Given the description of an element on the screen output the (x, y) to click on. 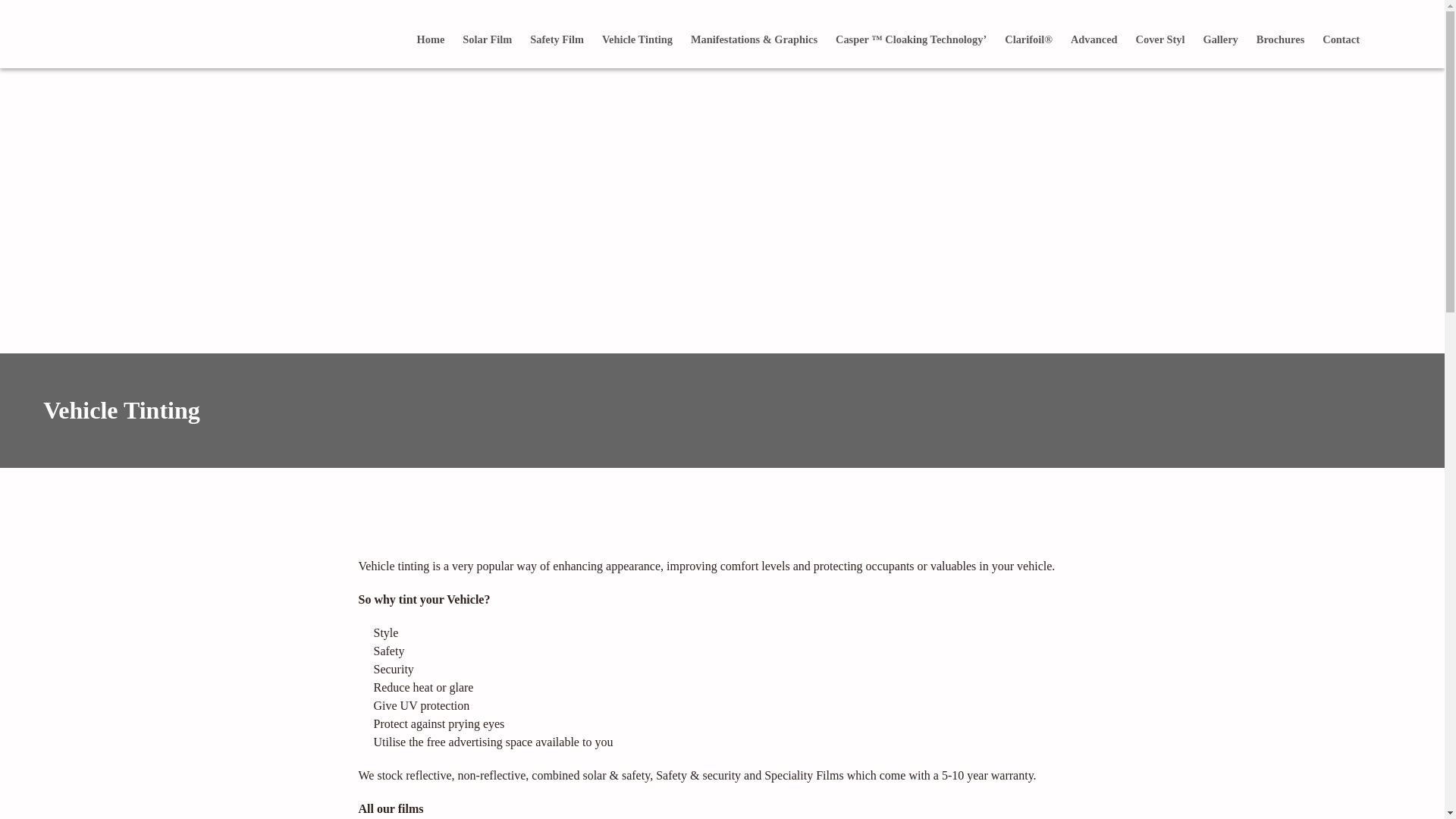
Contact (1340, 39)
Welcome to Solar Gard Ireland (121, 33)
Vehicle Tinting (637, 39)
Safety Film (556, 39)
Solar Film (487, 39)
Brochures (1280, 39)
Cover Styl (1160, 39)
Home (430, 39)
Gallery (1219, 39)
Advanced (1094, 39)
